Given the description of an element on the screen output the (x, y) to click on. 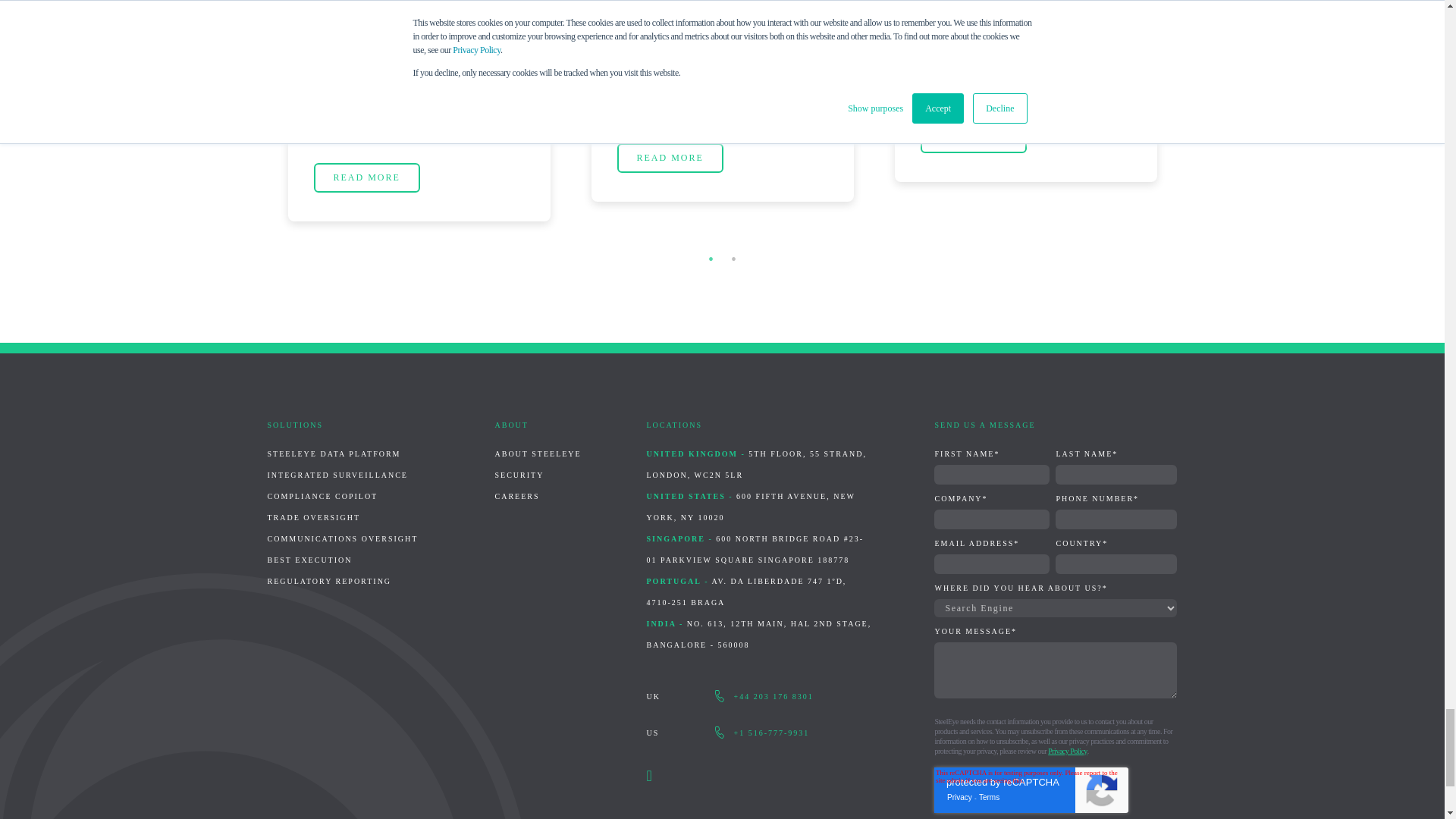
reCAPTCHA (1031, 790)
